Given the description of an element on the screen output the (x, y) to click on. 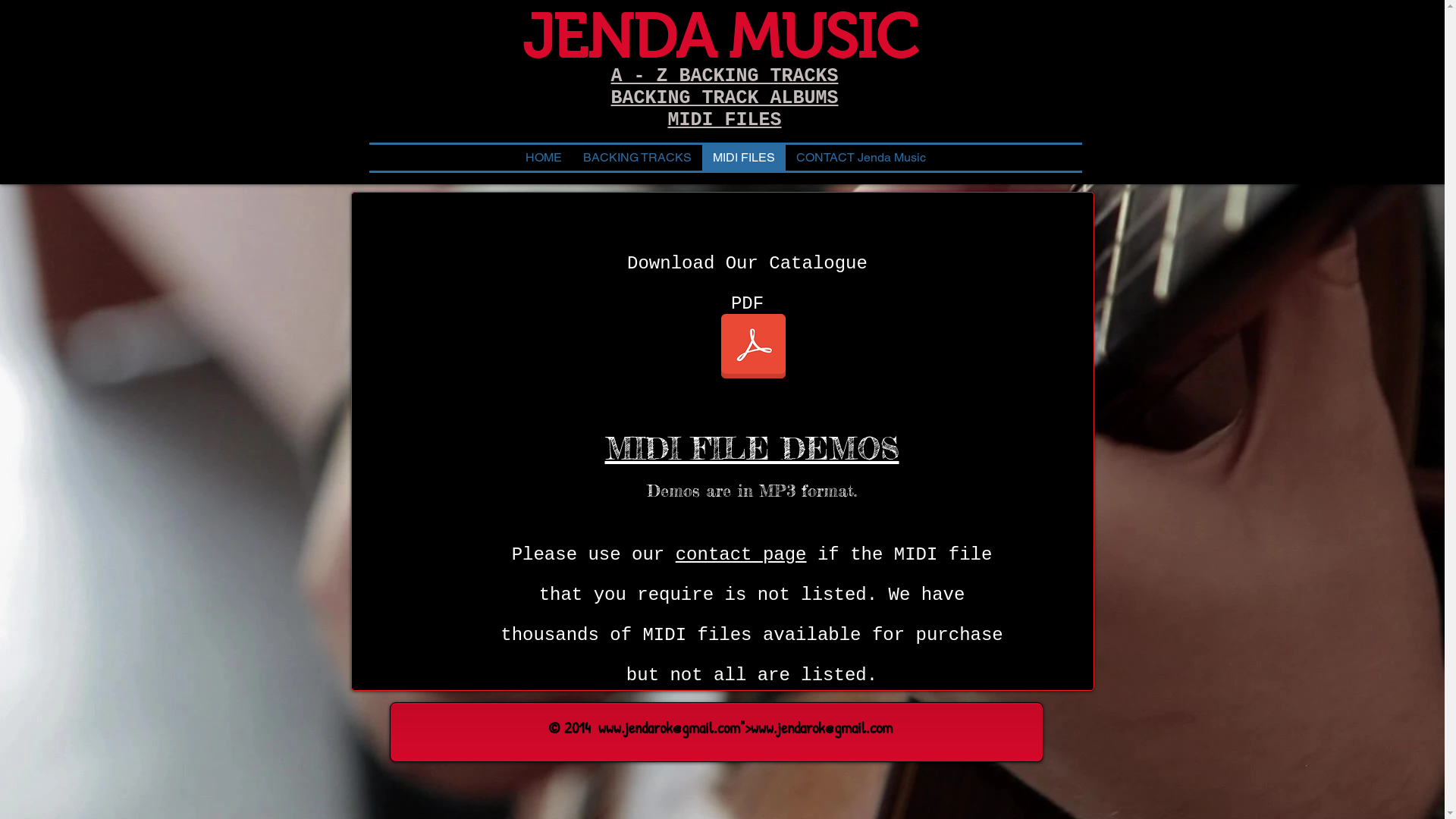
BACKING TRACK ALBUMS Element type: text (723, 98)
BACKING TRACKS Element type: text (636, 157)
MIDI FILE DEMOS Element type: text (752, 448)
MIDI FILES Element type: text (724, 120)
A - Z BACKING TRACKS Element type: text (723, 76)
HOME Element type: text (542, 157)
MIDI FILES Element type: text (743, 157)
LIST OF MIDI FILES.pdf Element type: hover (753, 347)
www.jendarok Element type: text (635, 727)
CONTACT Jenda Music Element type: text (860, 157)
www.jendarok Element type: text (787, 727)
contact page Element type: text (740, 554)
